Given the description of an element on the screen output the (x, y) to click on. 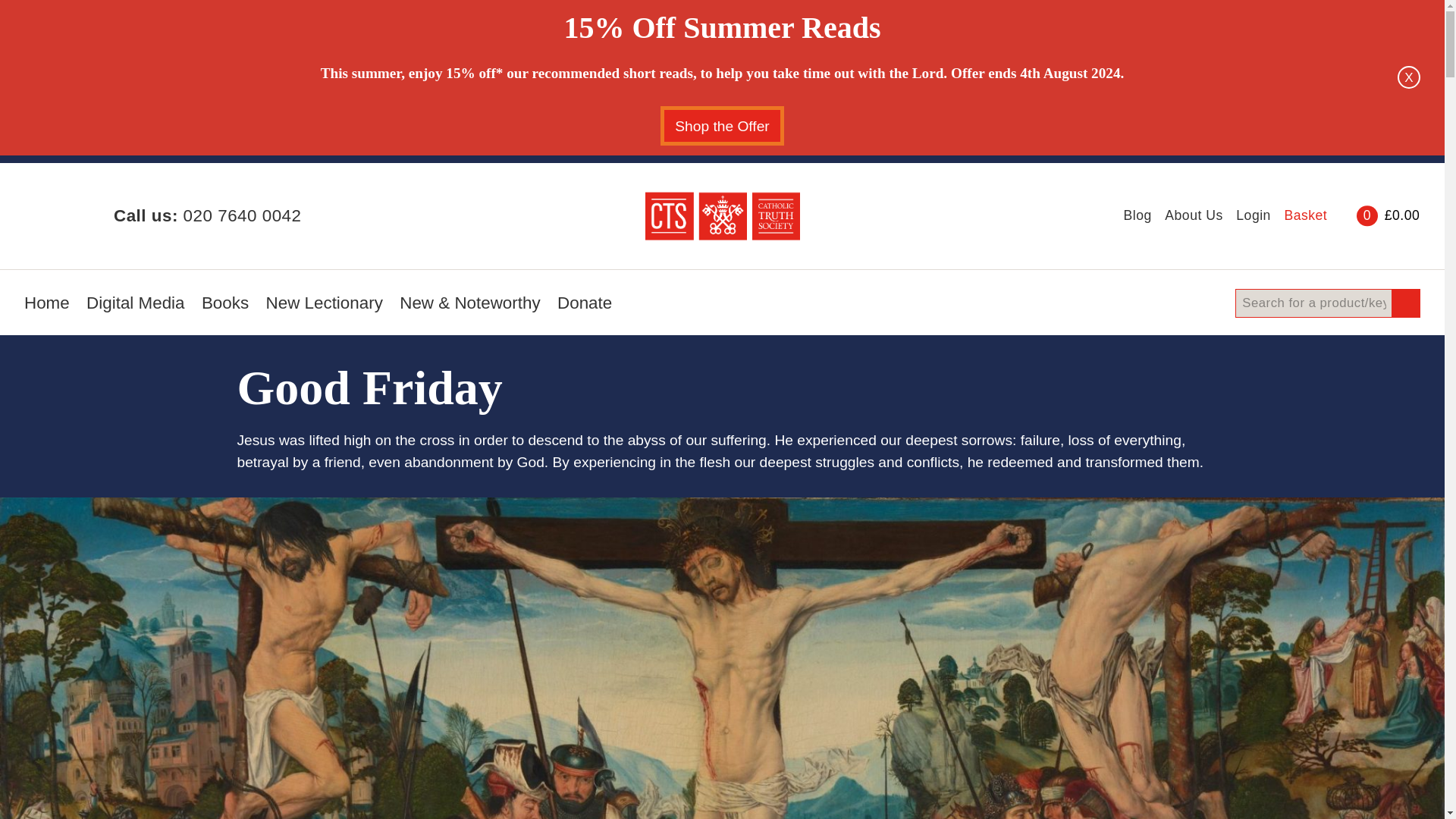
About Us (1193, 215)
Twitter (43, 215)
site-search (1327, 303)
Youtube (86, 215)
Instagram (65, 215)
Shop the Offer (722, 125)
Facebook (26, 215)
Search (1404, 303)
Basket (1341, 214)
X (1409, 77)
Call us: 020 7640 0042 (207, 215)
Digital Media (134, 307)
Login (1253, 215)
New Lectionary (324, 307)
